Given the description of an element on the screen output the (x, y) to click on. 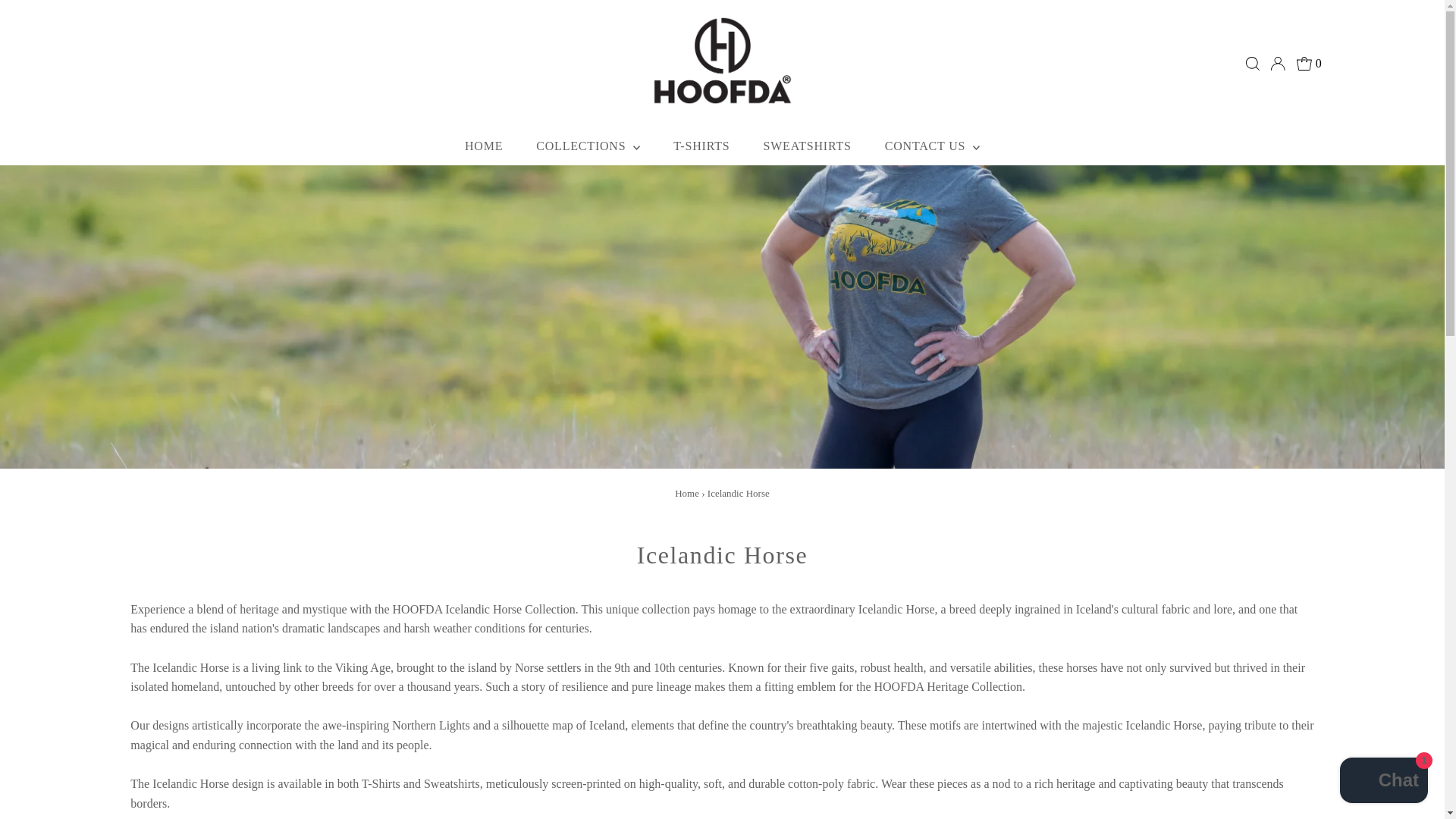
HOME (483, 146)
0 (1309, 63)
SWEATSHIRTS (807, 146)
T-SHIRTS (701, 146)
Home (686, 492)
Home (686, 492)
